Given the description of an element on the screen output the (x, y) to click on. 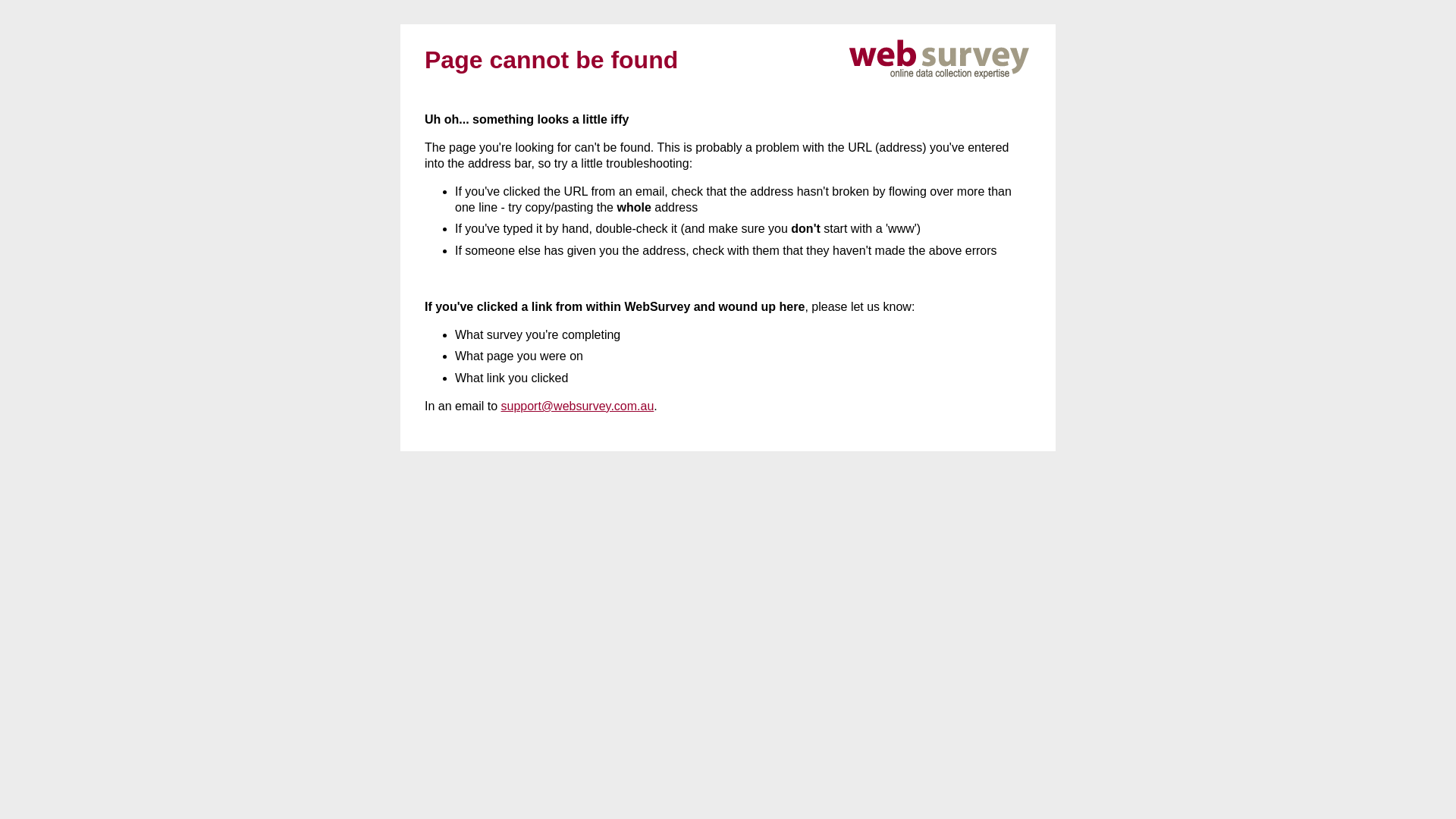
support@websurvey.com.au Element type: text (576, 405)
